Given the description of an element on the screen output the (x, y) to click on. 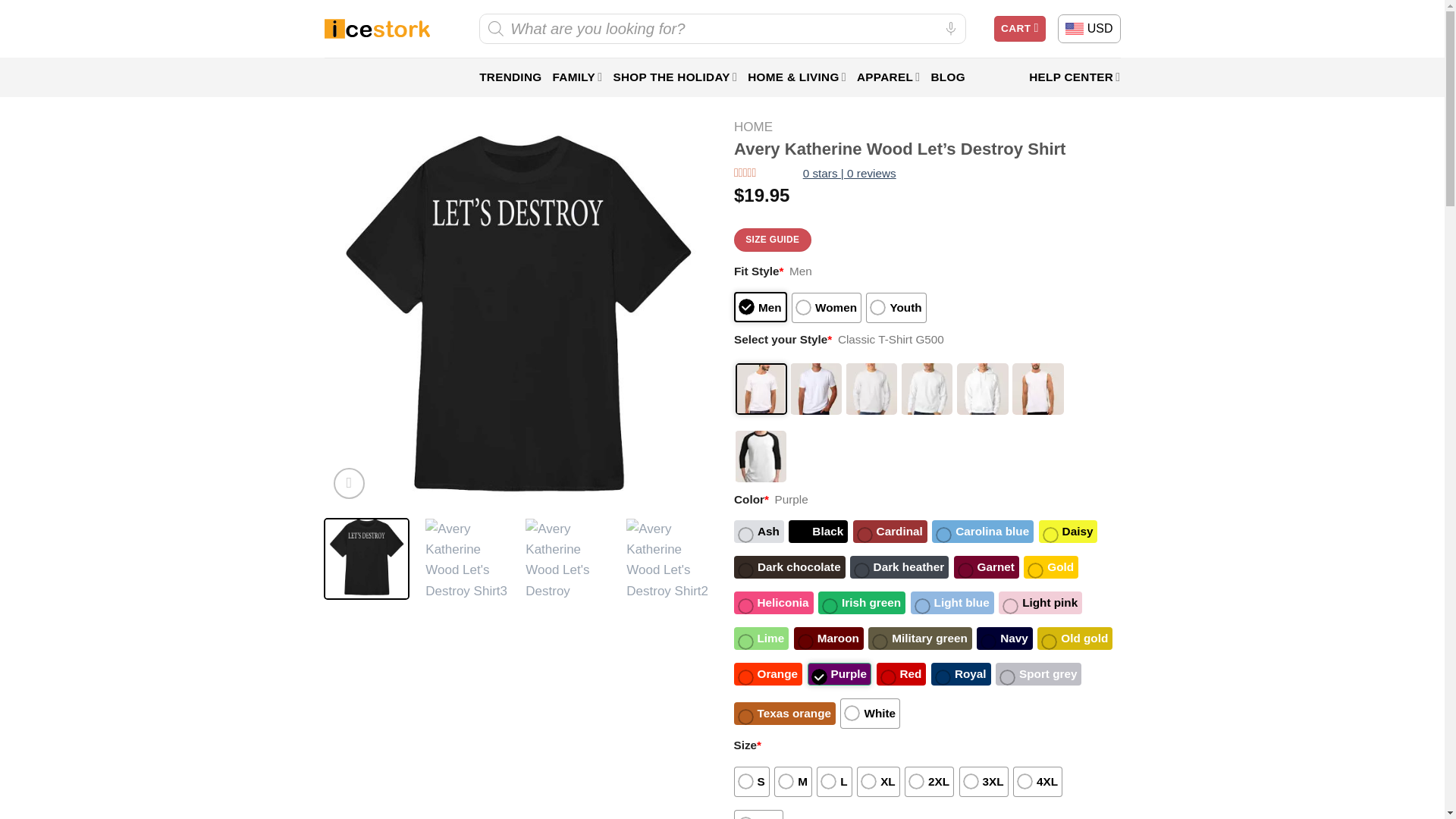
APPAREL (888, 77)
Zoom (348, 482)
Icestork - Best Clothings With Cheap Price (376, 28)
SHOP THE HOLIDAY (674, 77)
Avery Katherine Wood Let's Destroy Shirt 1 (467, 560)
TRENDING (510, 77)
Avery Katherine Wood Let's Destroy Shirt 2 (567, 560)
CART (1019, 28)
HELP CENTER (1074, 77)
FAMILY (576, 77)
